Given the description of an element on the screen output the (x, y) to click on. 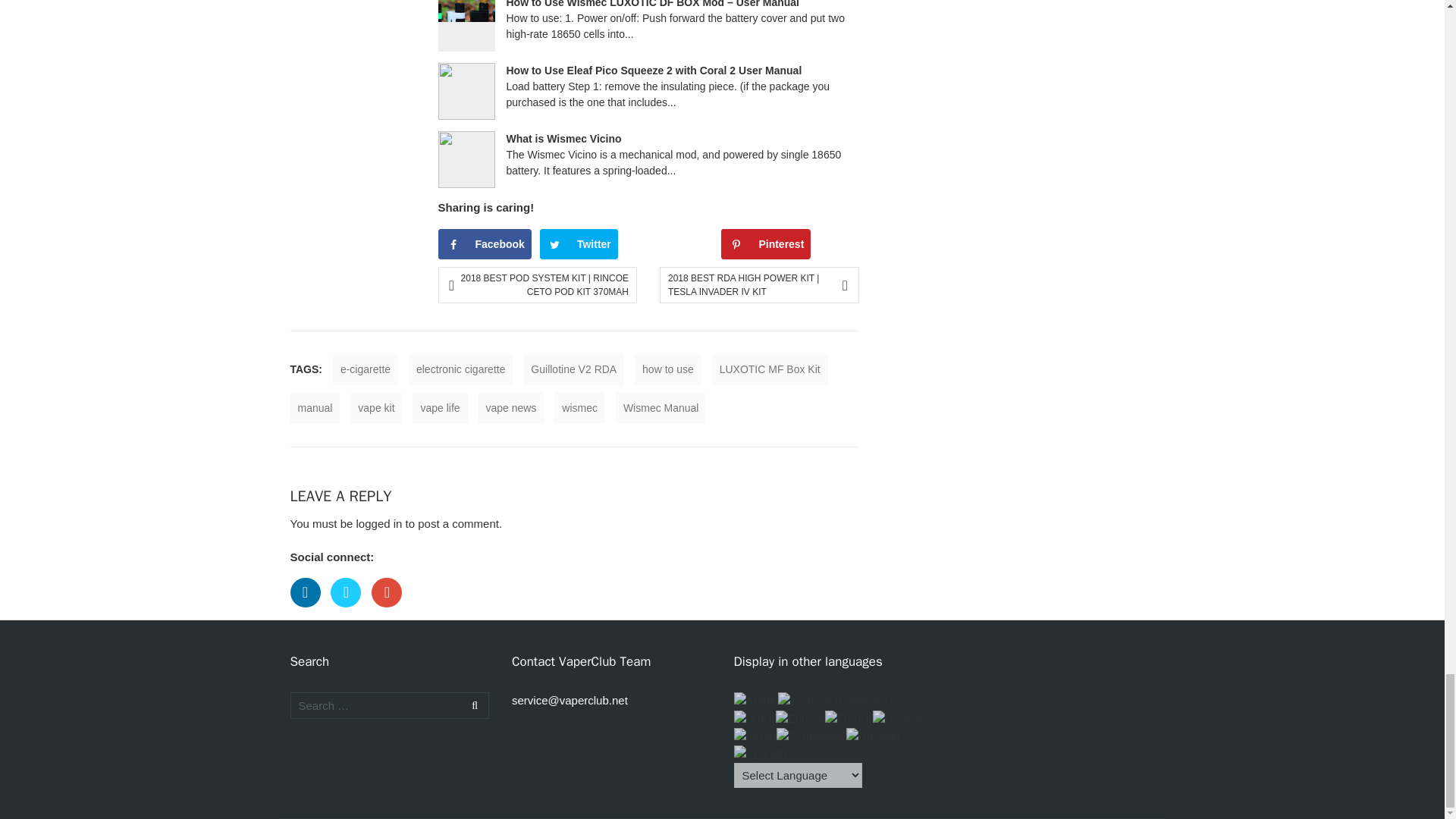
Search (471, 705)
Share on Twitter (578, 244)
Portuguese (811, 735)
French (848, 717)
Login with twitter (350, 611)
Login with facebook (309, 611)
Italian (754, 735)
English (800, 717)
Arabic (755, 699)
Dutch (754, 717)
Share on Facebook (484, 244)
Save to Pinterest (765, 244)
Login with google (390, 611)
Search (471, 705)
German (899, 717)
